Given the description of an element on the screen output the (x, y) to click on. 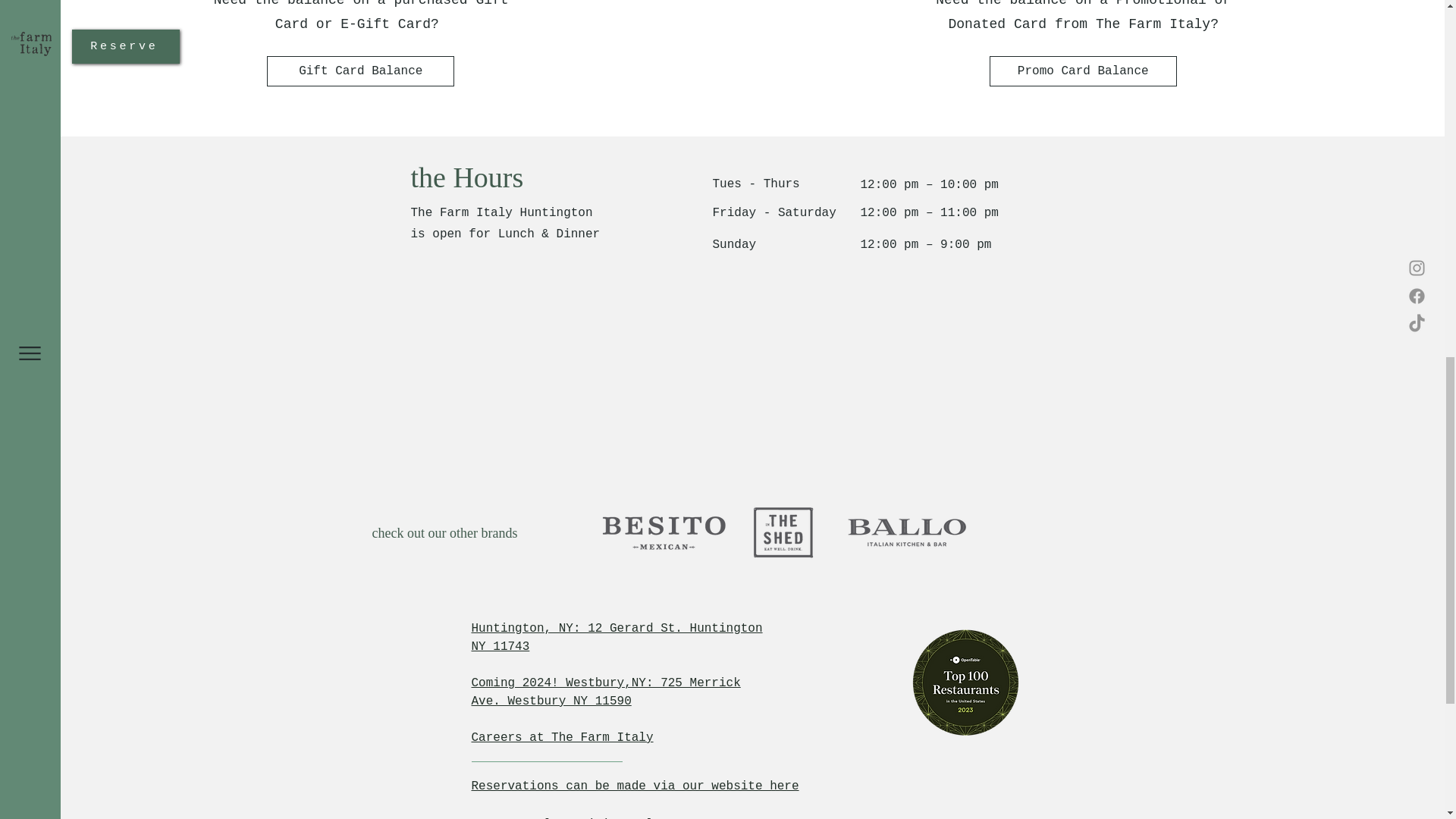
Promo Card Balance (1083, 71)
Huntington, NY: 12 Gerard St. Huntington NY 11743 (616, 637)
Coming 2024! Westbury,NY: 725 Merrick Ave. Westbury NY 11590 (606, 692)
Gift Card Balance (360, 71)
Careers at The Farm Italy (562, 737)
Reservations can be made via our website here (635, 786)
